Given the description of an element on the screen output the (x, y) to click on. 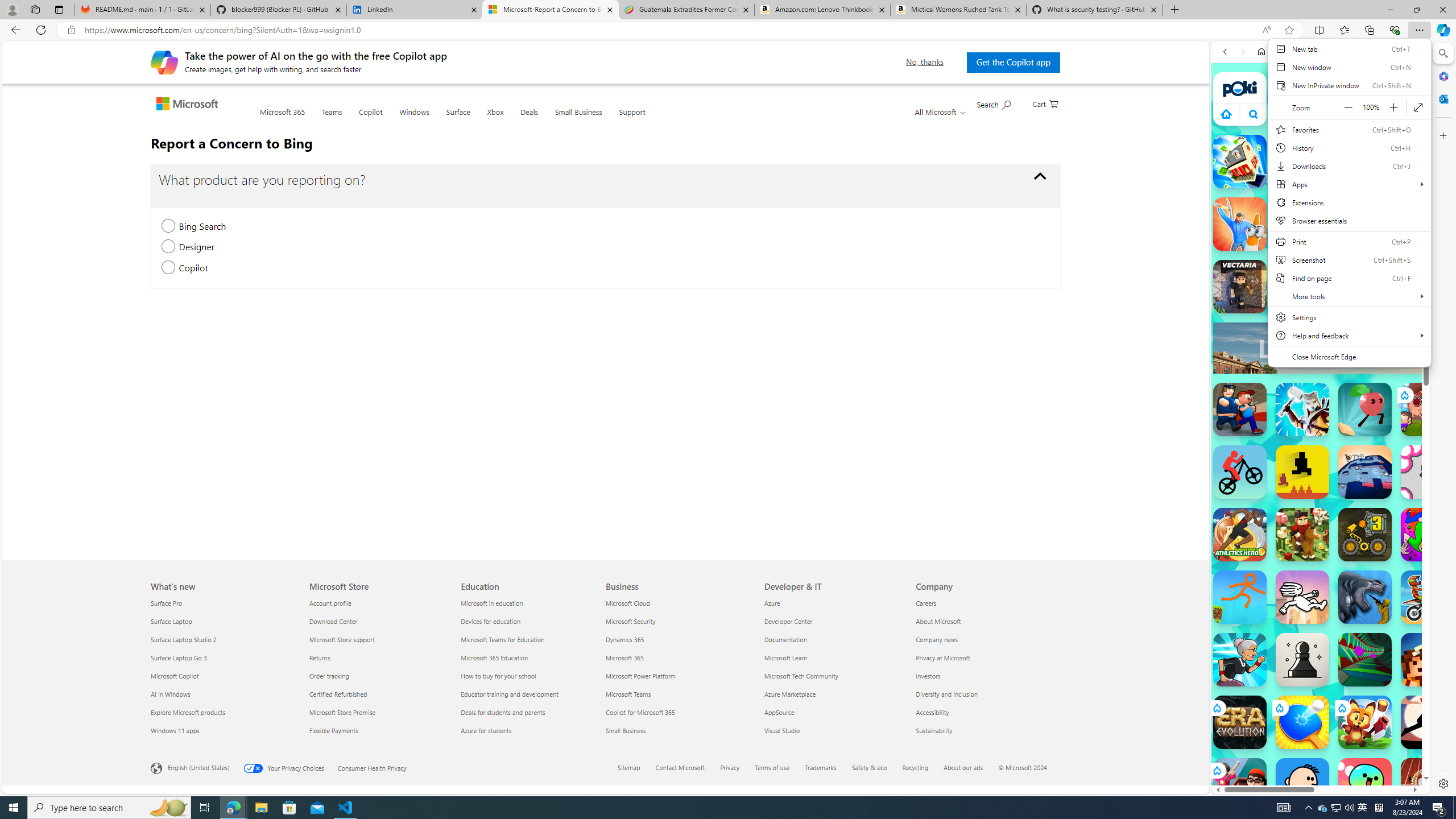
Shooting Games (1320, 295)
New InPrivate window (1349, 85)
Poor Eddie (1302, 784)
Careers Company (925, 602)
Careers (984, 602)
About Microsoft Company (937, 620)
The Speed Ninja The Speed Ninja (1427, 722)
Small Business (577, 118)
Xbox (495, 118)
